Given the description of an element on the screen output the (x, y) to click on. 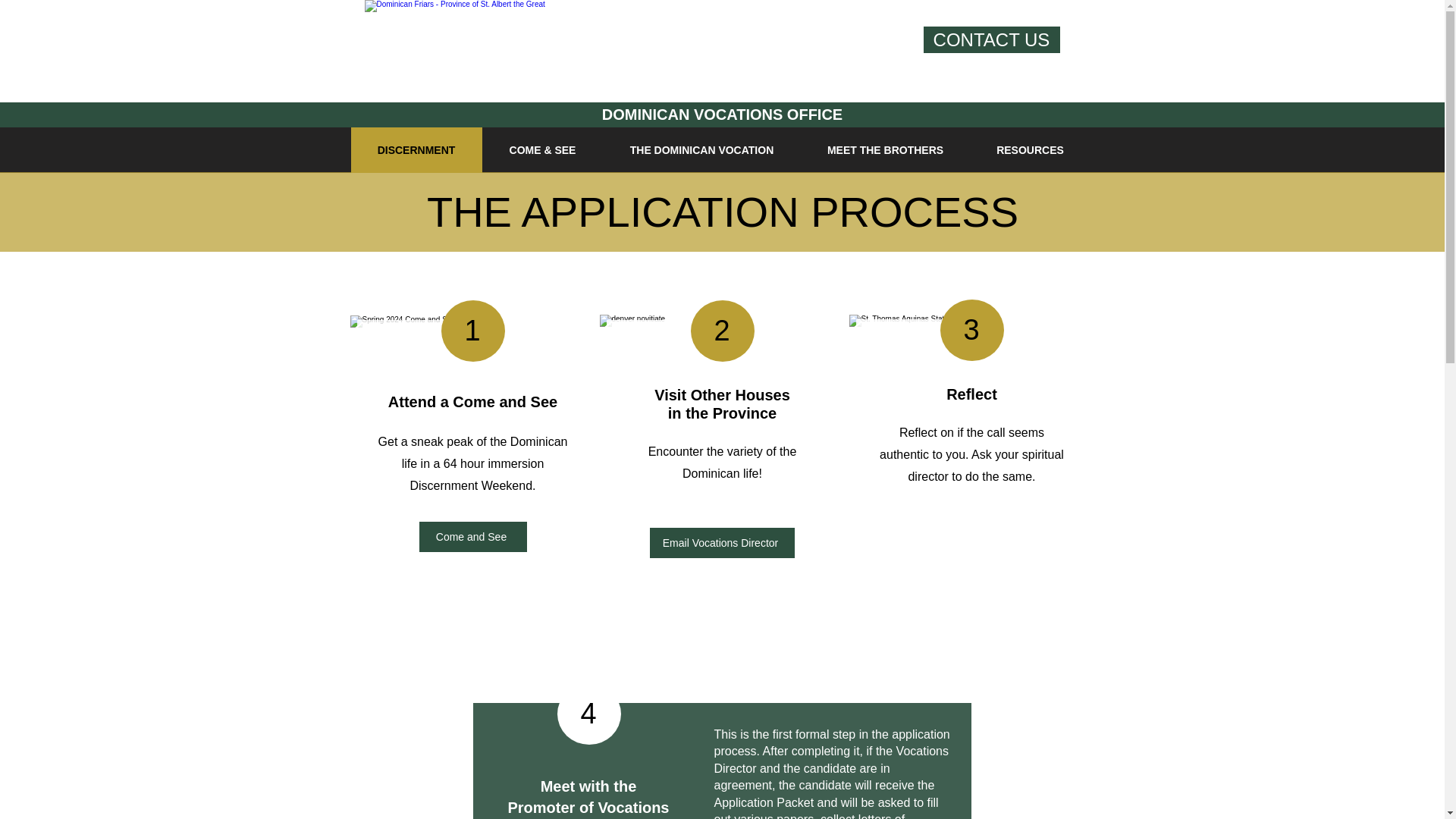
Meet with the Promoter of Vocations (588, 796)
CONTACT US (991, 39)
Attend a Come and See (472, 401)
Reflect (971, 393)
DISCERNMENT (415, 149)
Come and See (472, 536)
THE DOMINICAN VOCATION (700, 149)
RESOURCES (1029, 149)
Email Vocations Director (721, 542)
DOMINICAN VOCATIONS OFFICE (722, 114)
MEET THE BROTHERS (884, 149)
